Given the description of an element on the screen output the (x, y) to click on. 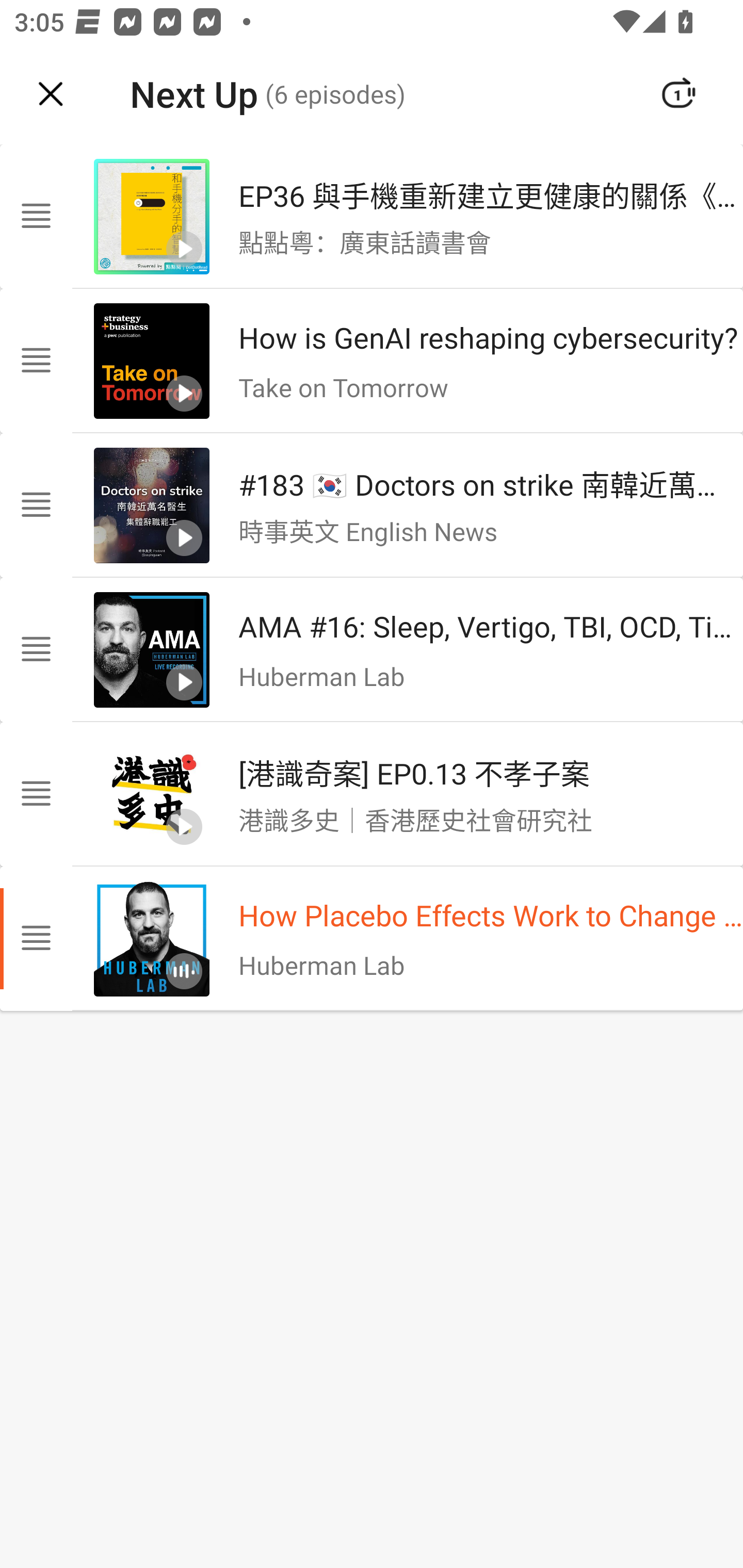
Navigate up (50, 93)
